Given the description of an element on the screen output the (x, y) to click on. 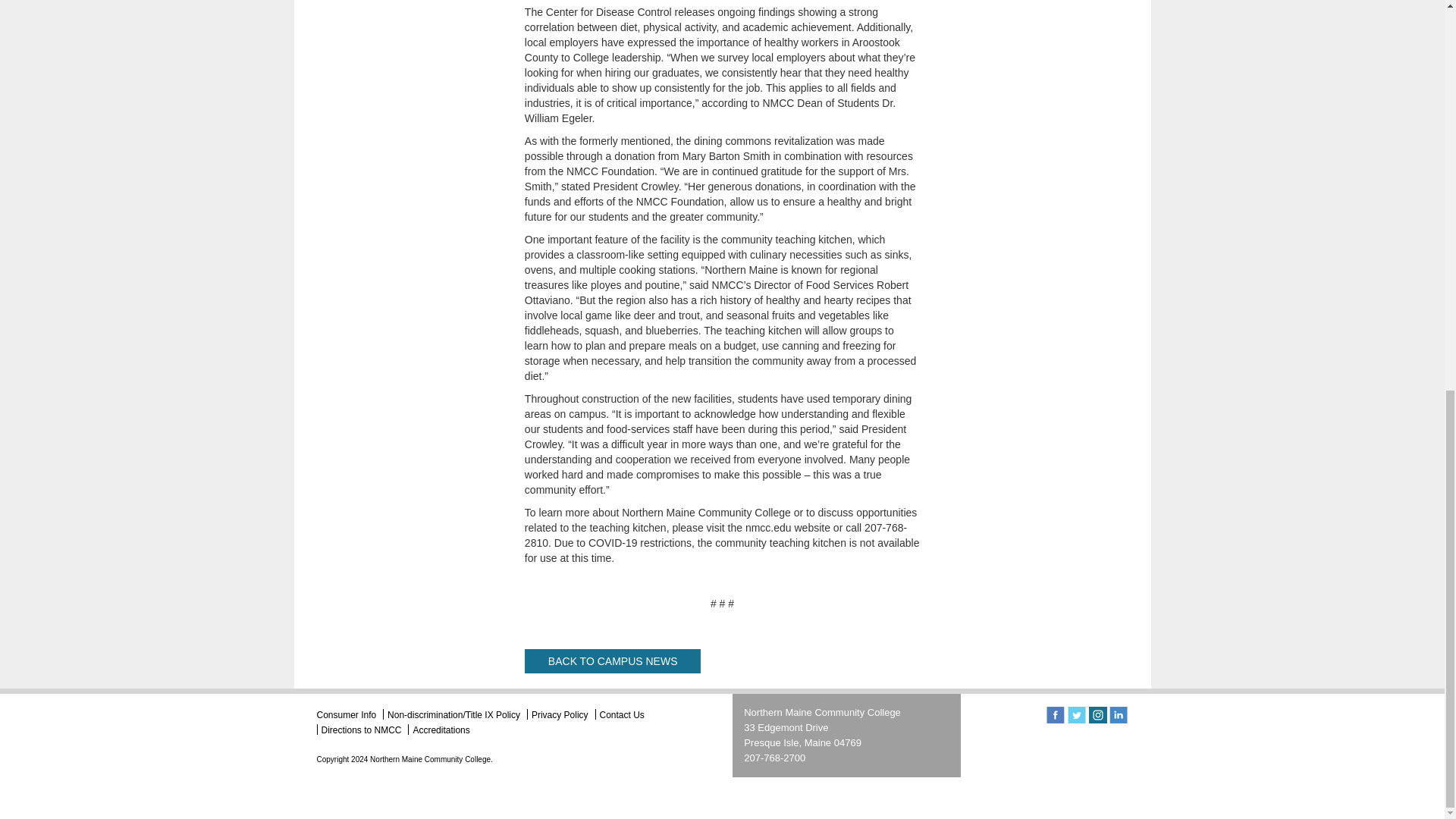
Connect with us on Facebook (1055, 715)
Follow us on Instagram (1097, 715)
Follow us on Twitter (1076, 715)
Connect with us on Linkedin (1117, 715)
